Given the description of an element on the screen output the (x, y) to click on. 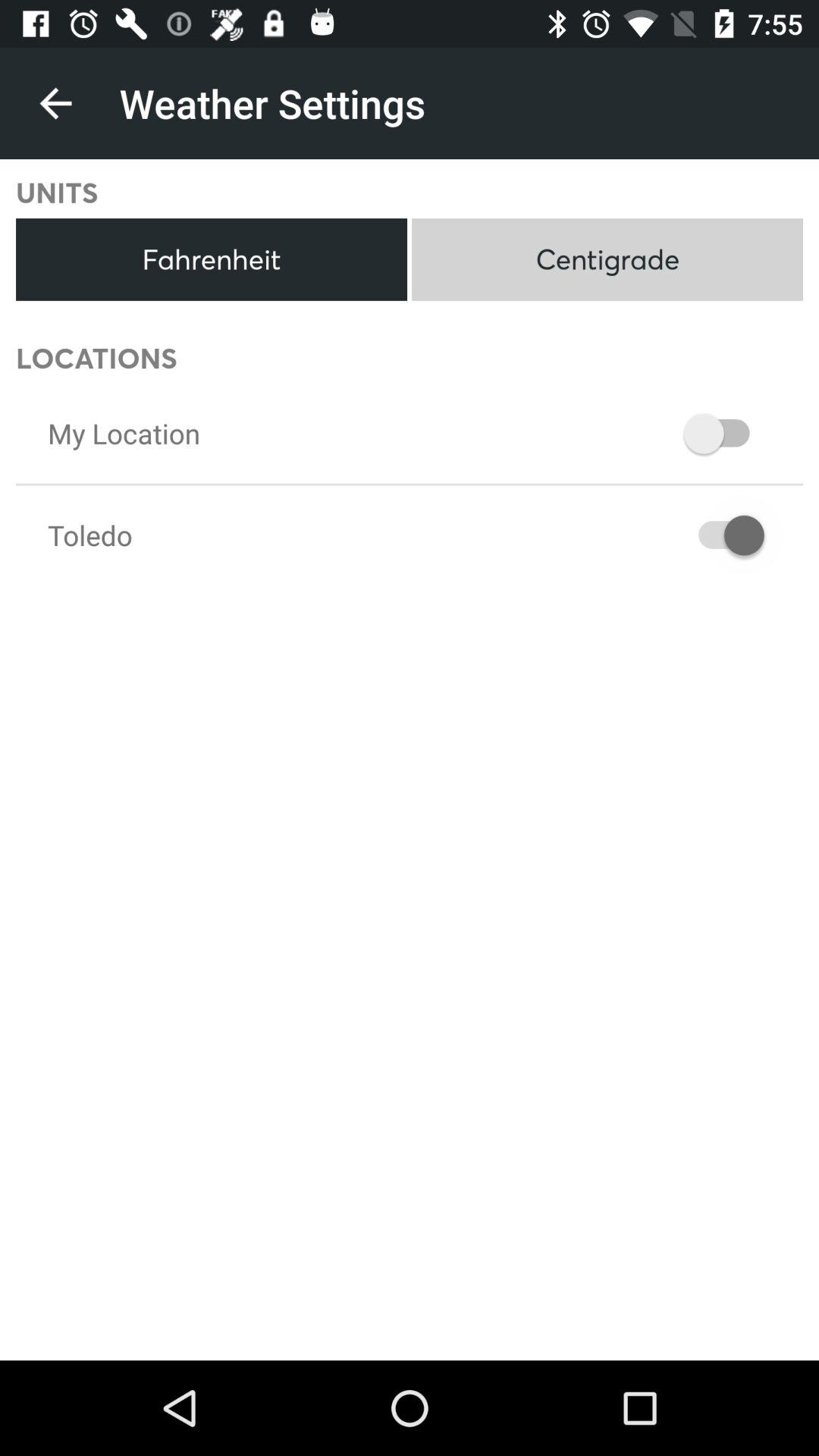
turn off item to the left of the weather settings app (55, 103)
